Given the description of an element on the screen output the (x, y) to click on. 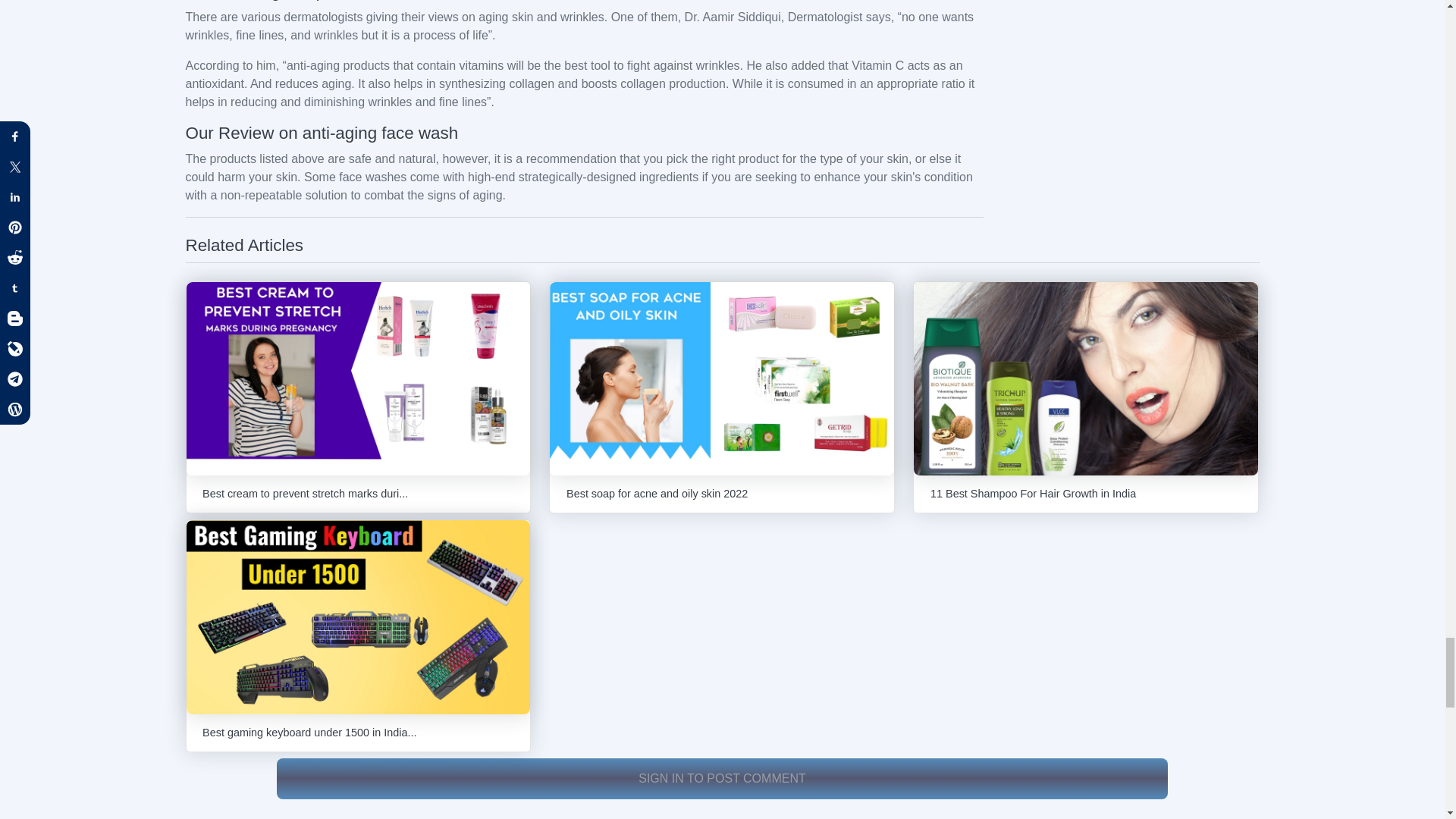
Best soap for acne and oily skin 2022 (721, 397)
11 Best Shampoo For Hair Growth in India (1085, 397)
SIGN IN TO POST COMMENT (721, 778)
SIGN IN TO POST COMMENT (721, 777)
Best gaming keyboard under 1500 in India... (357, 635)
Best cream to prevent stretch marks duri... (357, 397)
